Given the description of an element on the screen output the (x, y) to click on. 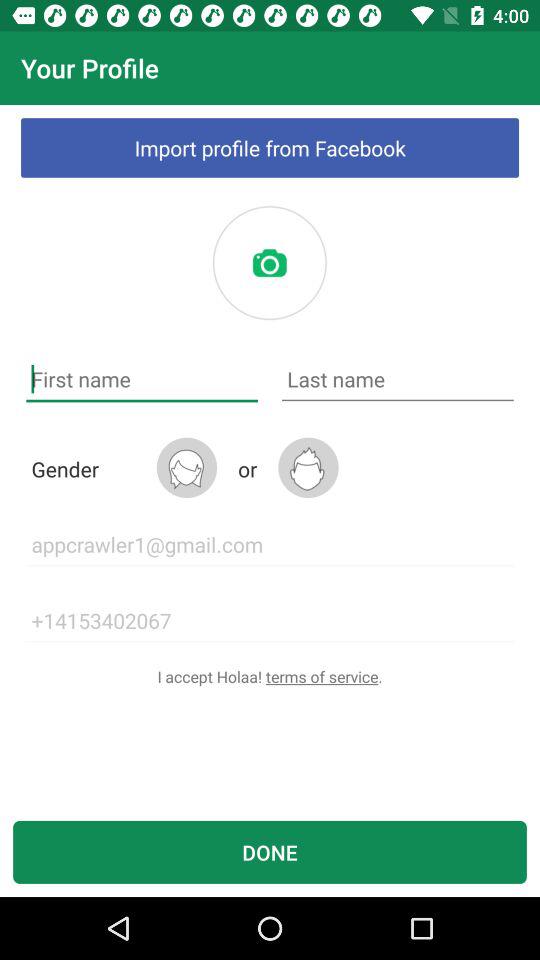
swipe to the done icon (269, 851)
